Given the description of an element on the screen output the (x, y) to click on. 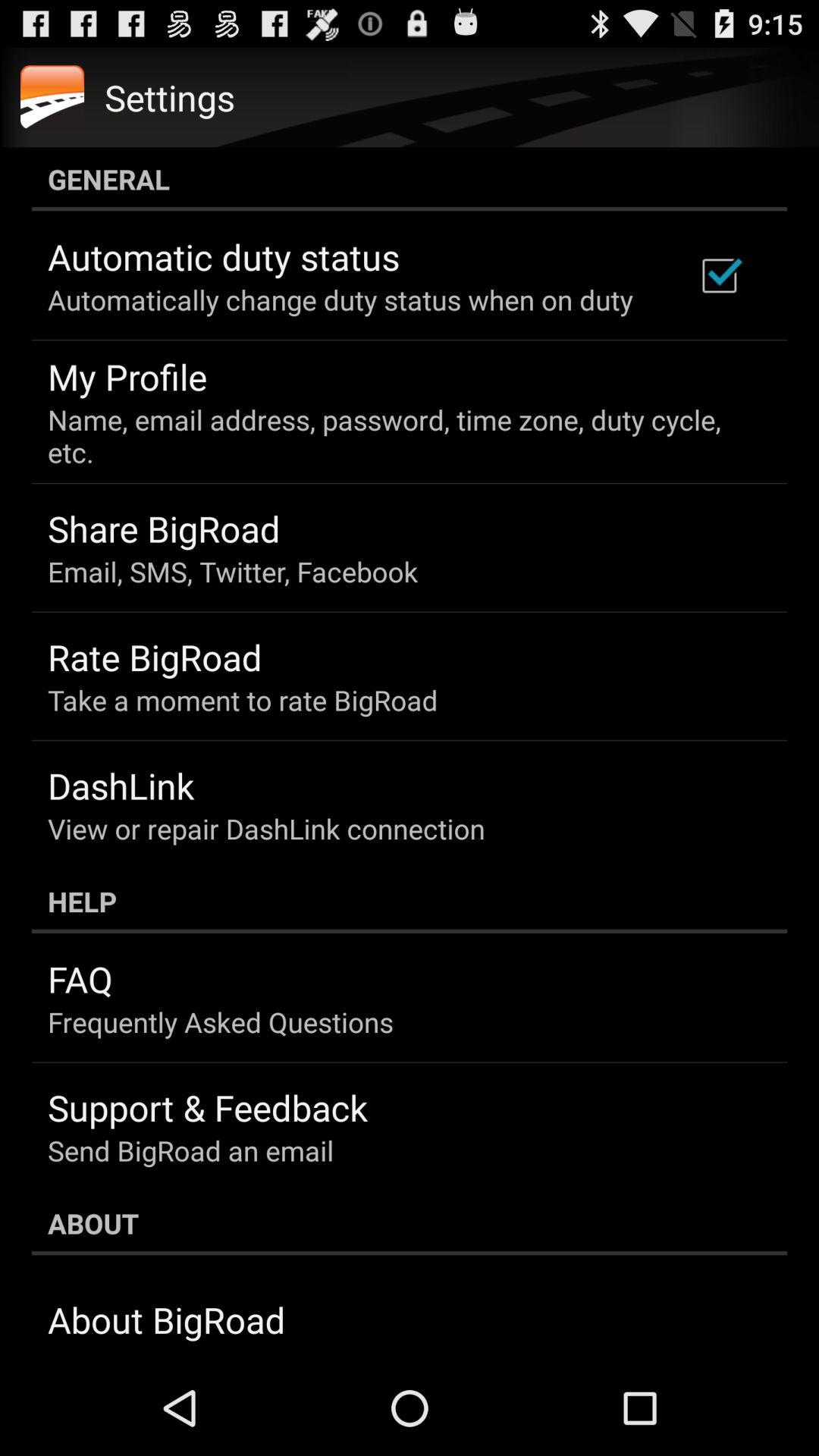
choose app above the send bigroad an icon (207, 1107)
